Given the description of an element on the screen output the (x, y) to click on. 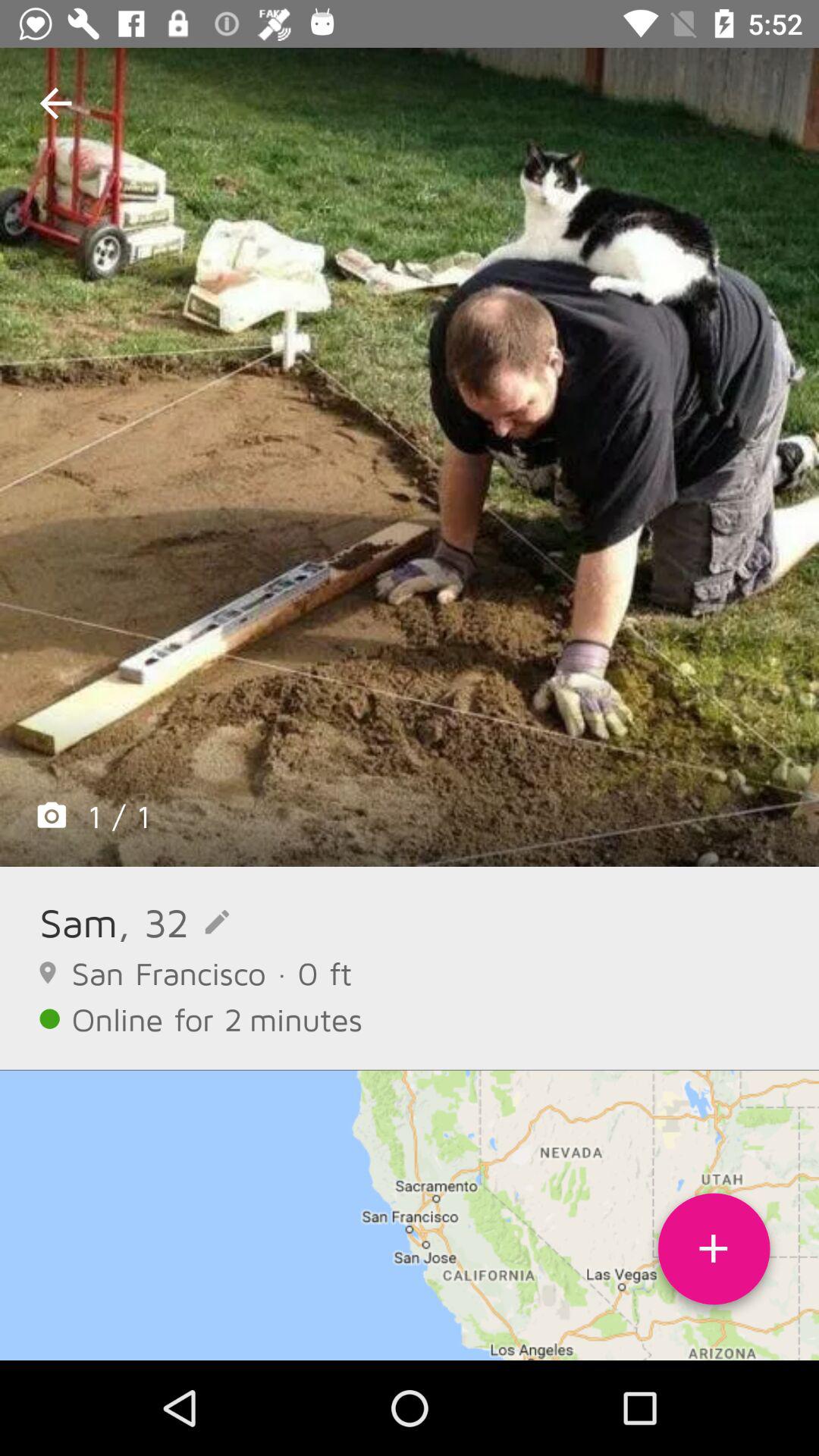
go to photo box (409, 456)
